Given the description of an element on the screen output the (x, y) to click on. 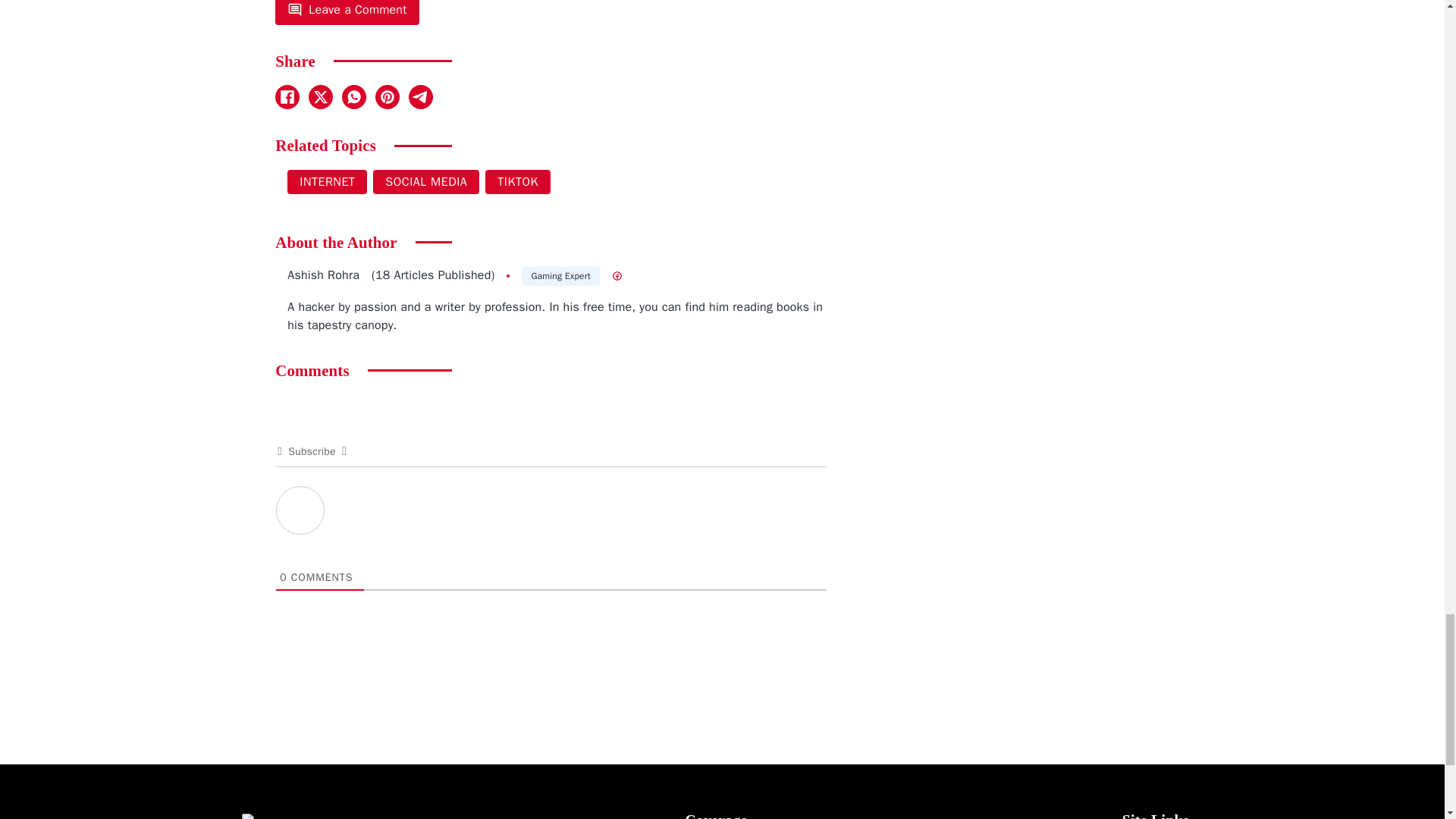
TIKTOK (517, 181)
SOCIAL MEDIA (425, 181)
INTERNET (326, 181)
Leave a Comment (347, 12)
